Given the description of an element on the screen output the (x, y) to click on. 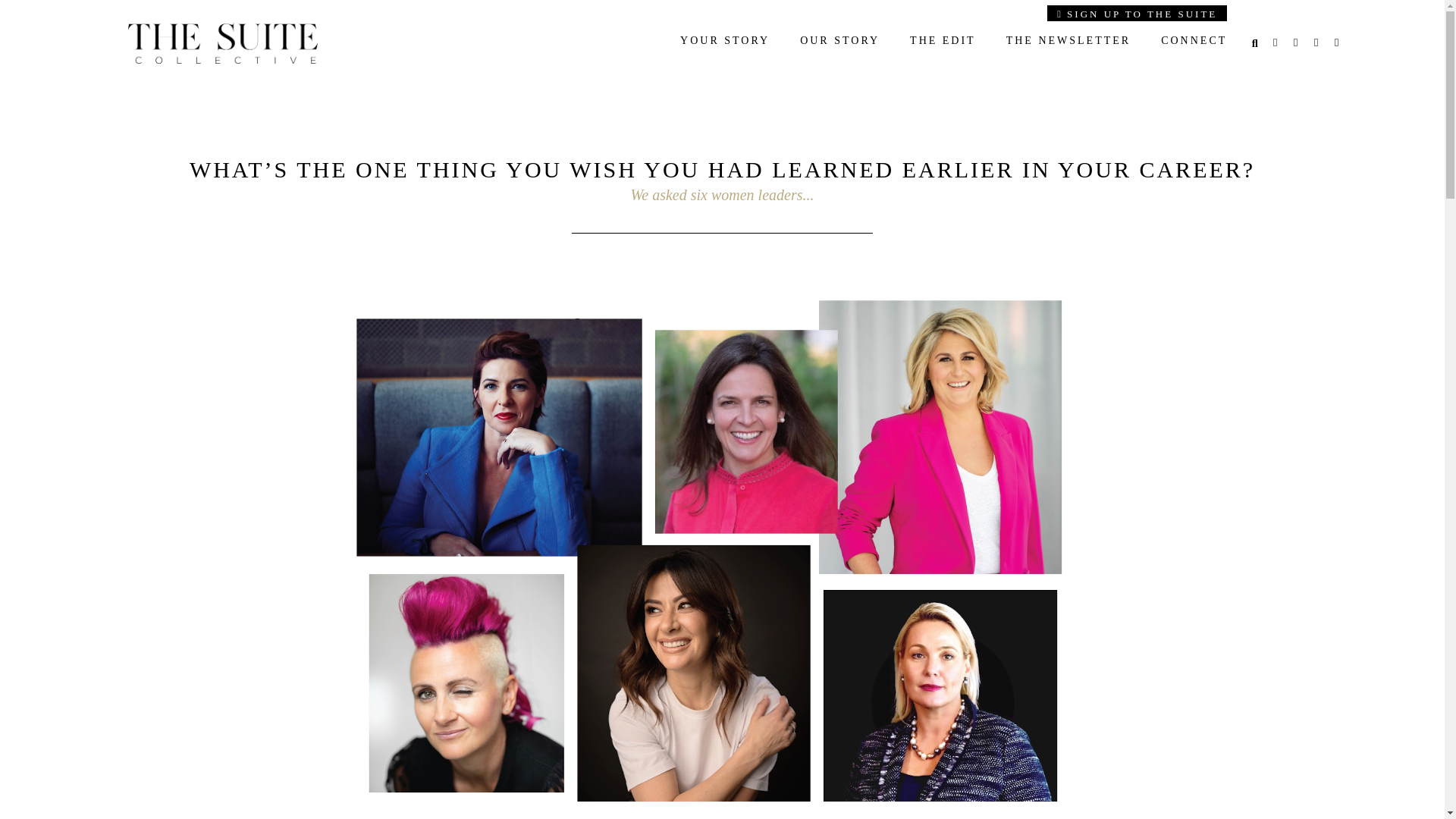
THE EDIT (943, 40)
THE NEWSLETTER (1068, 40)
YOUR STORY (724, 40)
CONNECT (1193, 40)
OUR STORY (839, 40)
SIGN UP TO THE SUITE (1136, 12)
